Given the description of an element on the screen output the (x, y) to click on. 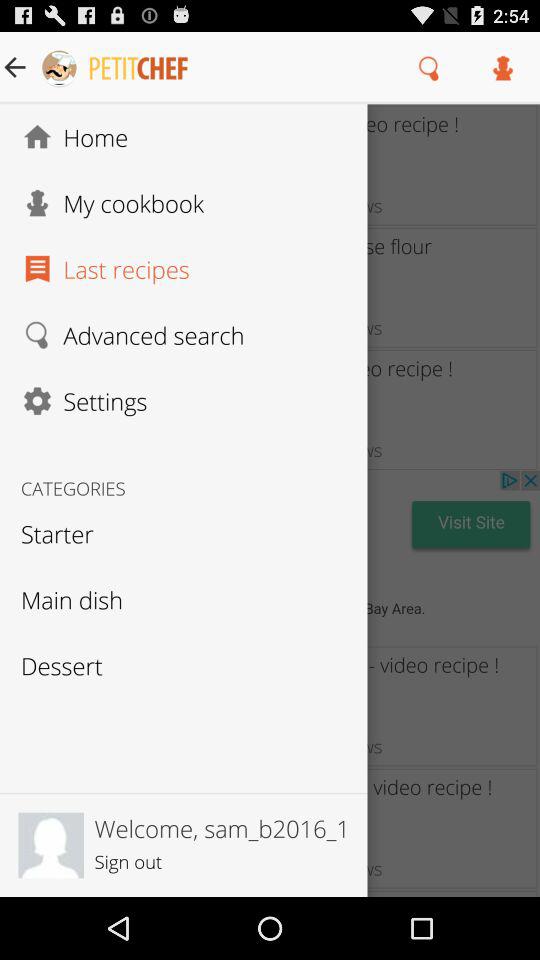
select the option petitchef which is above home option on the page (115, 67)
